Given the description of an element on the screen output the (x, y) to click on. 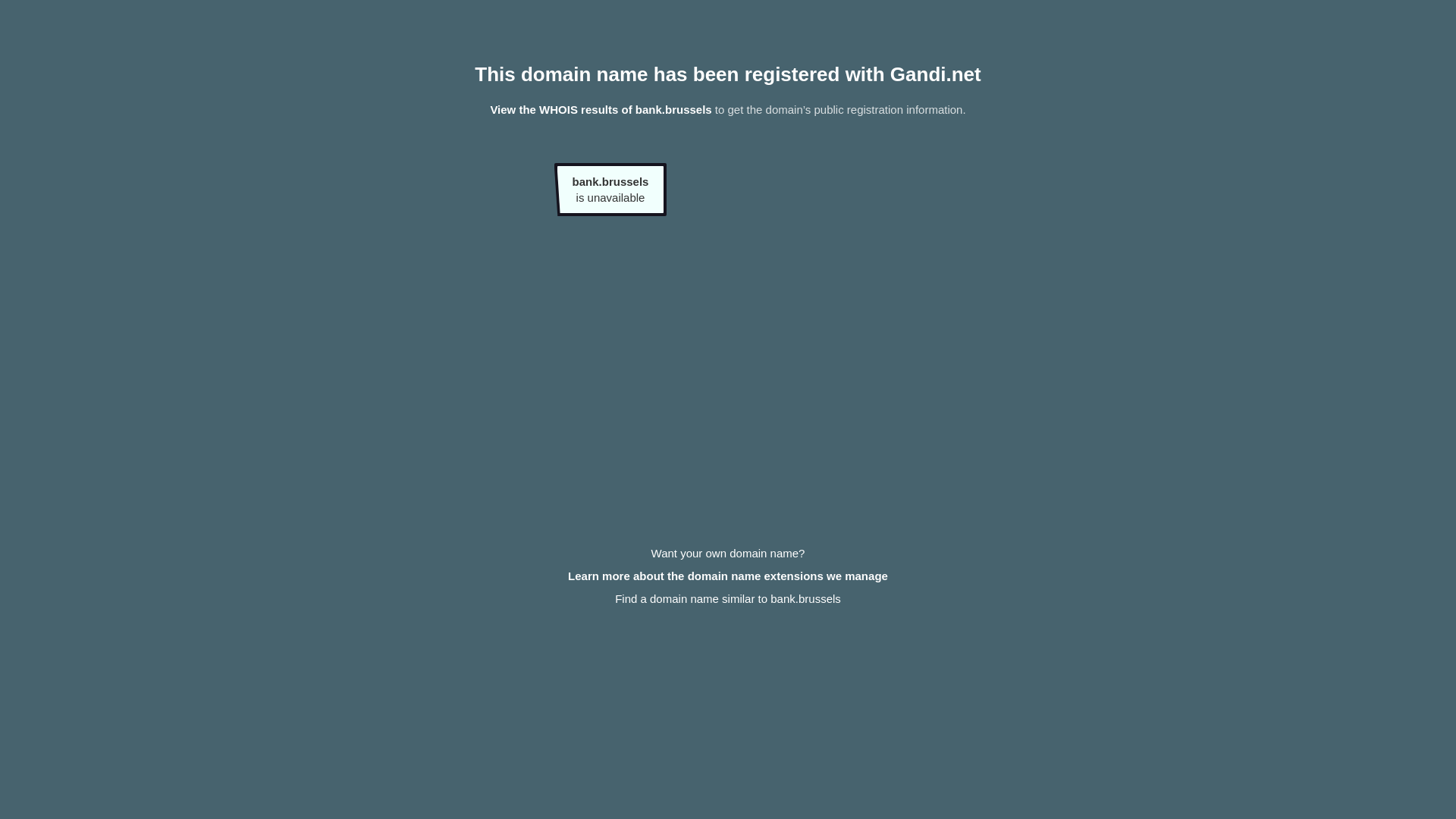
View the WHOIS results of bank.brussels Element type: text (600, 109)
Learn more about the domain name extensions we manage Element type: text (727, 575)
Find a domain name similar to bank.brussels Element type: text (727, 598)
